Given the description of an element on the screen output the (x, y) to click on. 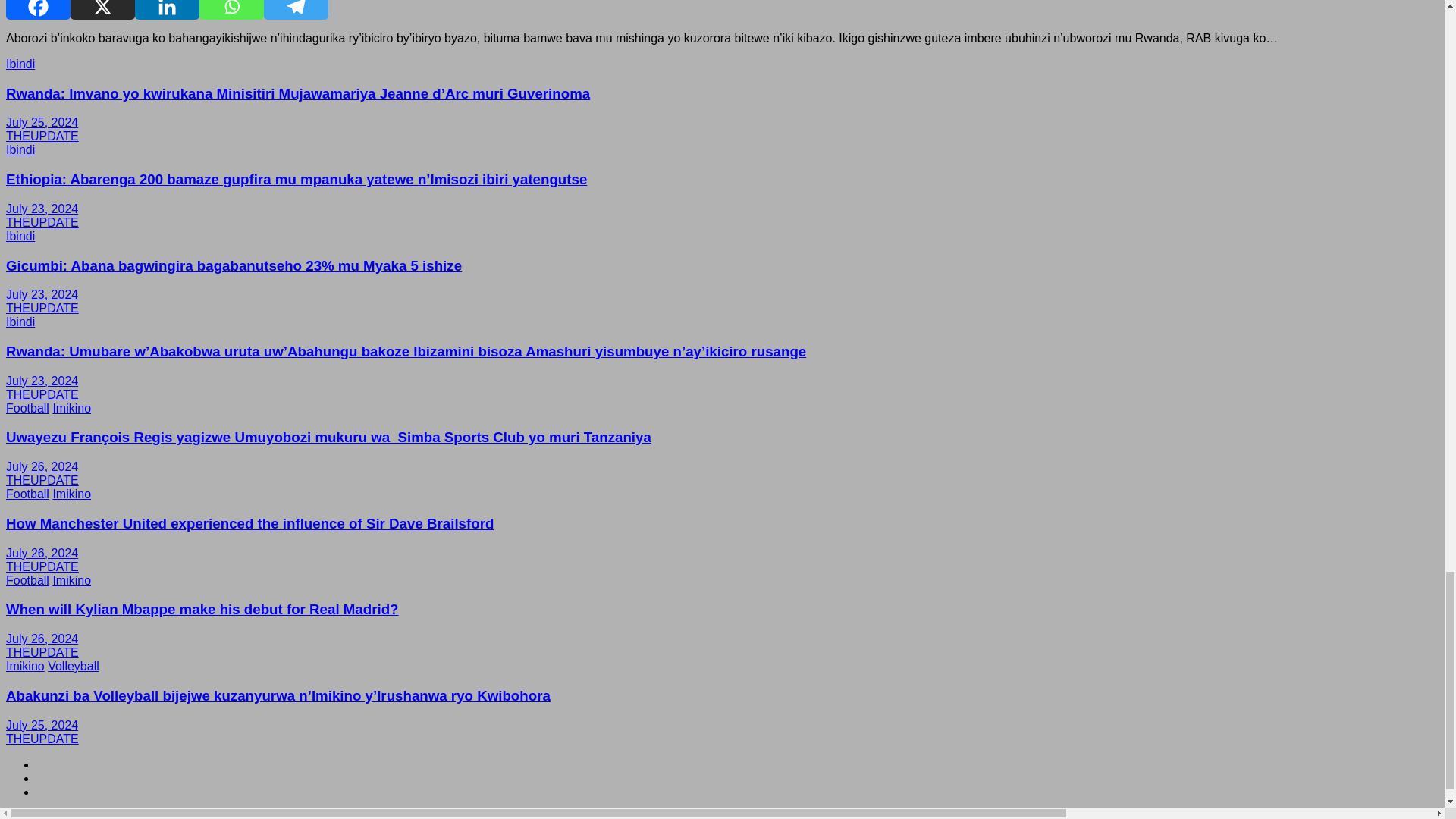
Whatsapp (231, 9)
Facebook (37, 9)
Linkedin (167, 9)
X (102, 9)
Telegram (296, 9)
